Given the description of an element on the screen output the (x, y) to click on. 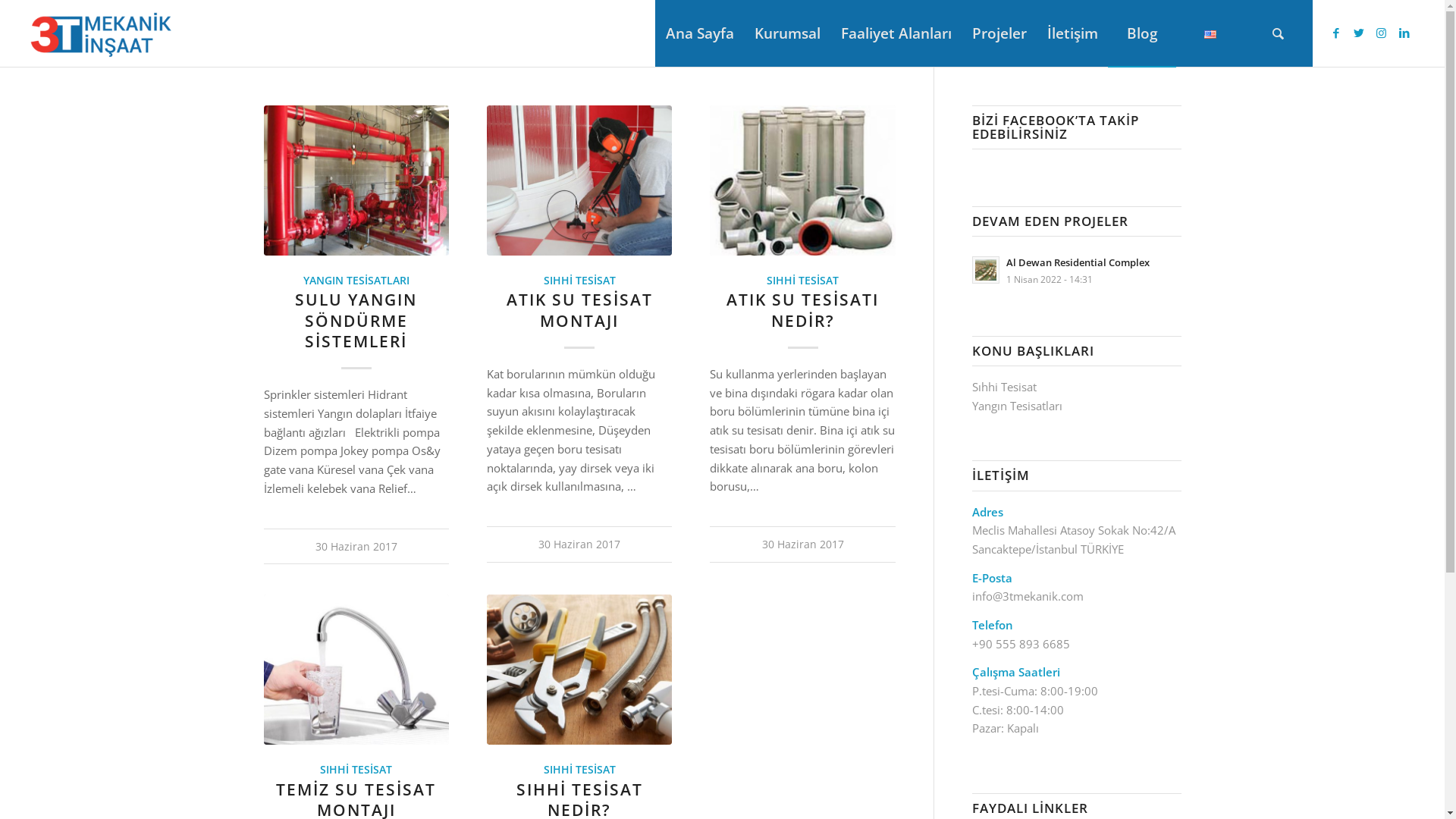
ATIK SU TESISATI NEDIR? Element type: text (802, 309)
Twitter Element type: hover (1358, 32)
Facebook Element type: hover (1335, 32)
Ana Sayfa Element type: text (699, 33)
SIHHI TESISAT Element type: text (579, 279)
LinkedIn Element type: hover (1404, 32)
Blog Element type: text (1141, 33)
Instagram Element type: hover (1381, 32)
ATIK SU TESISAT MONTAJI Element type: text (579, 309)
SIHHI TESISAT Element type: text (356, 769)
YANGIN TESISATLARI Element type: text (356, 279)
Al Dewan Residential Complex
1 Nisan 2022 - 14:31 Element type: text (1076, 270)
Projeler Element type: text (998, 33)
SIHHI TESISAT Element type: text (802, 279)
Kurumsal Element type: text (786, 33)
SIHHI TESISAT Element type: text (579, 769)
